Given the description of an element on the screen output the (x, y) to click on. 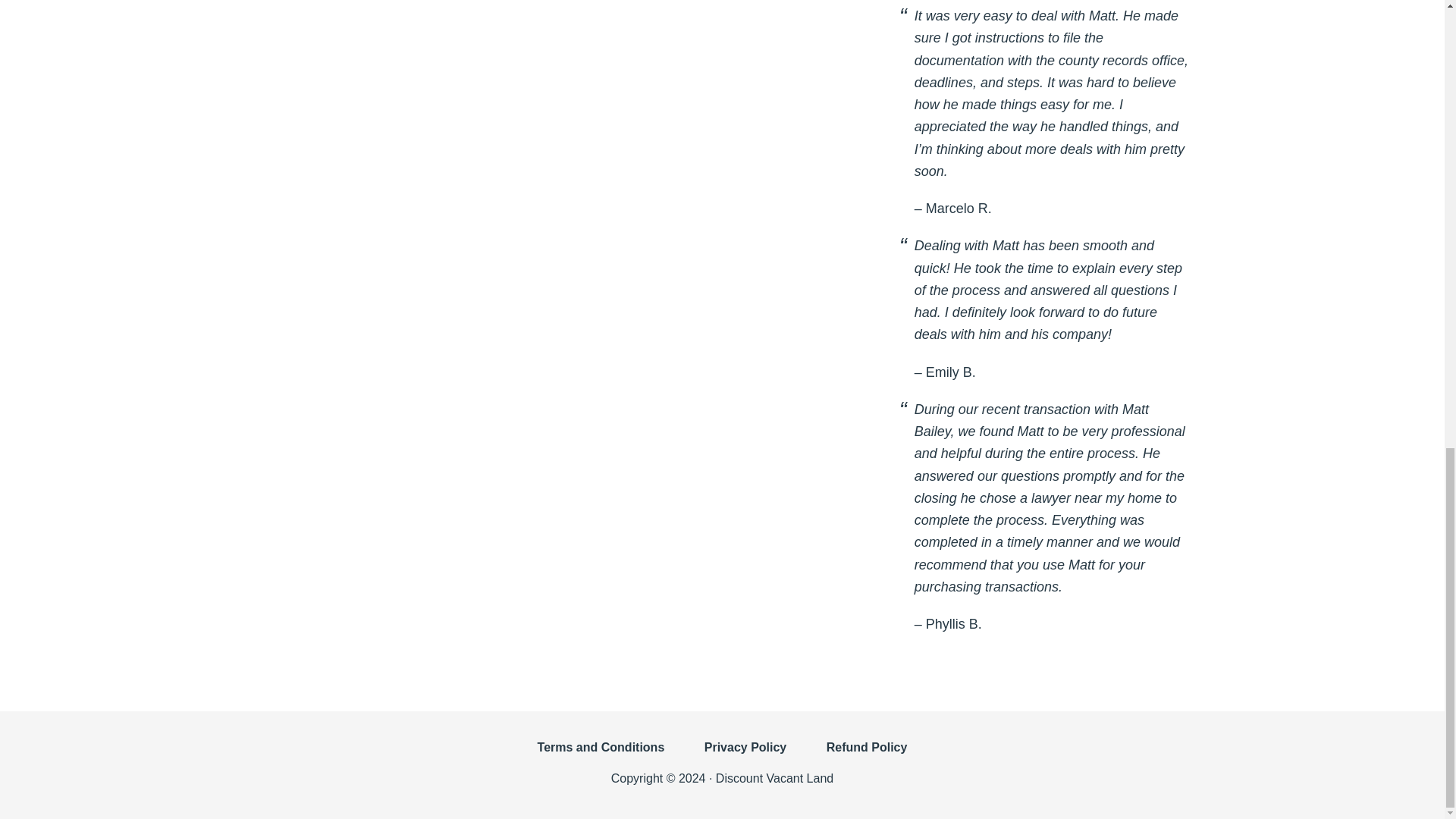
Terms and Conditions (600, 755)
Refund Policy (867, 755)
Privacy Policy (745, 755)
